Given the description of an element on the screen output the (x, y) to click on. 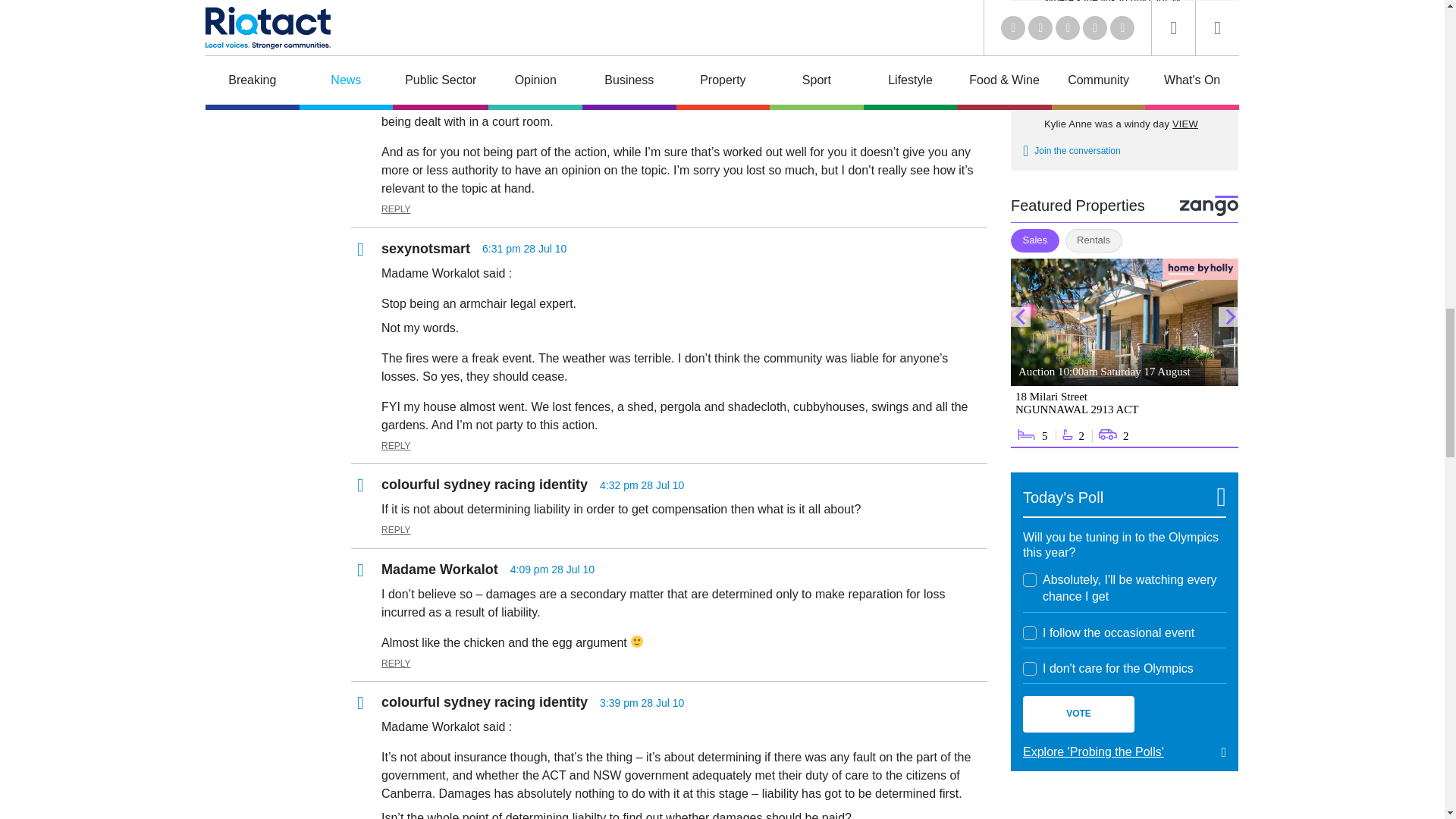
2043 (1029, 580)
Zango Sales (1124, 352)
3rd party ad content (1124, 807)
2044 (1029, 632)
   Vote    (1078, 714)
2045 (1029, 668)
Zango (1209, 205)
